Given the description of an element on the screen output the (x, y) to click on. 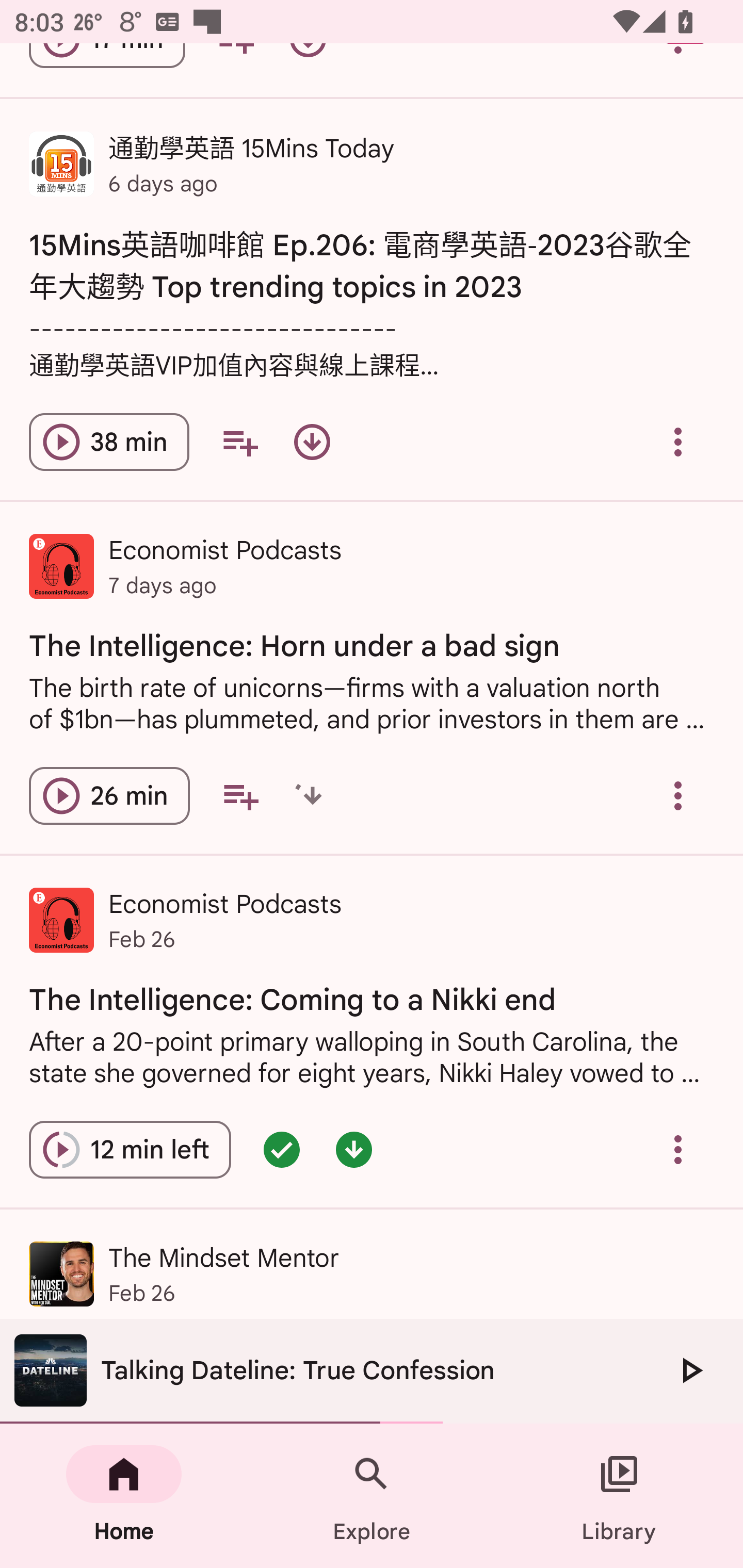
Add to your queue (239, 442)
Download episode (312, 442)
Overflow menu (677, 442)
Add to your queue (240, 795)
Queued to download - double tap for options (312, 795)
Overflow menu (677, 795)
Episode queued - double tap for options (281, 1150)
Episode downloaded - double tap for options (354, 1150)
Overflow menu (677, 1150)
Play (690, 1370)
Explore (371, 1495)
Library (619, 1495)
